Given the description of an element on the screen output the (x, y) to click on. 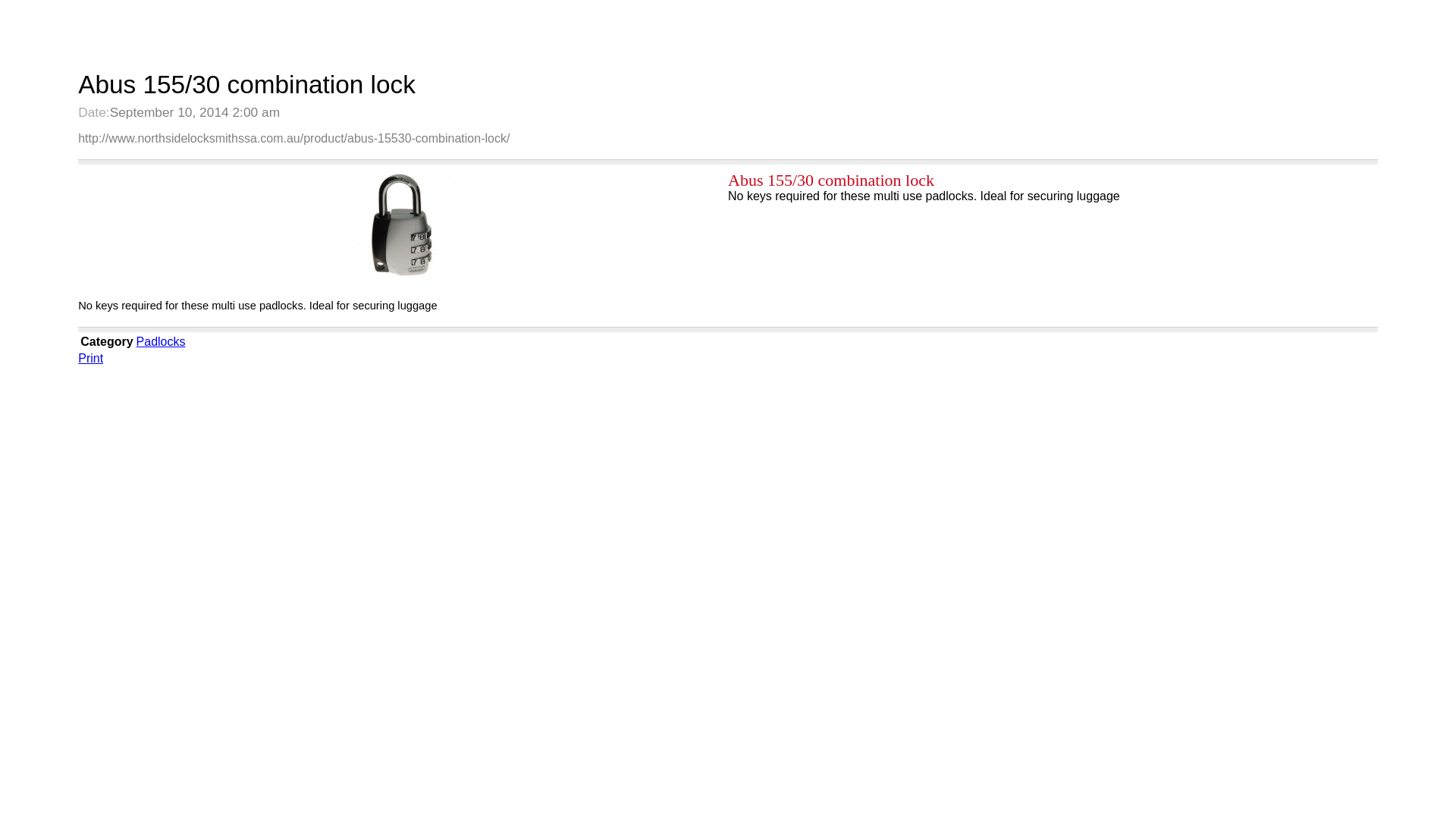
Padlocks Element type: text (160, 341)
Print Element type: text (90, 357)
